Given the description of an element on the screen output the (x, y) to click on. 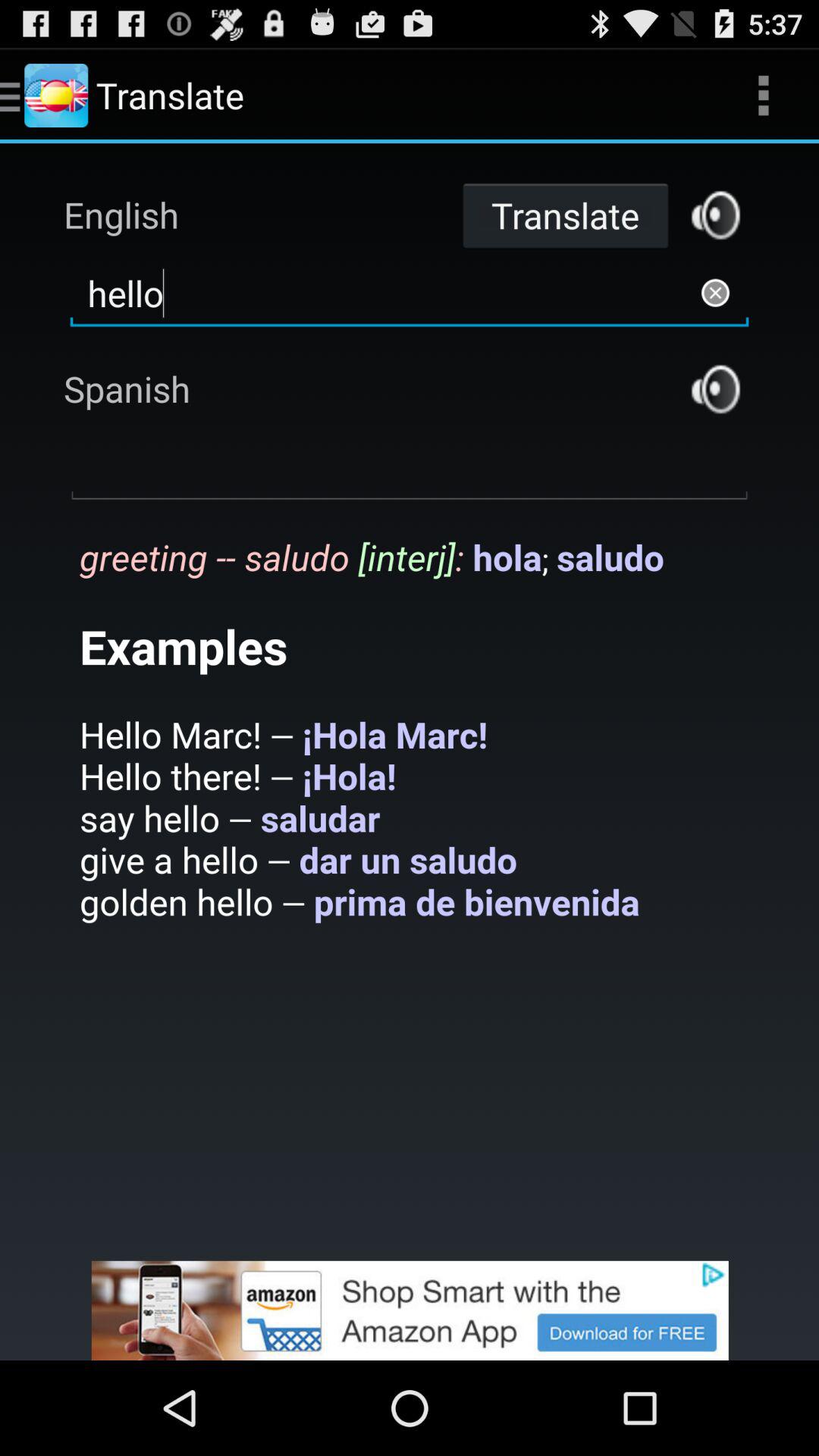
advertisements (409, 1310)
